Given the description of an element on the screen output the (x, y) to click on. 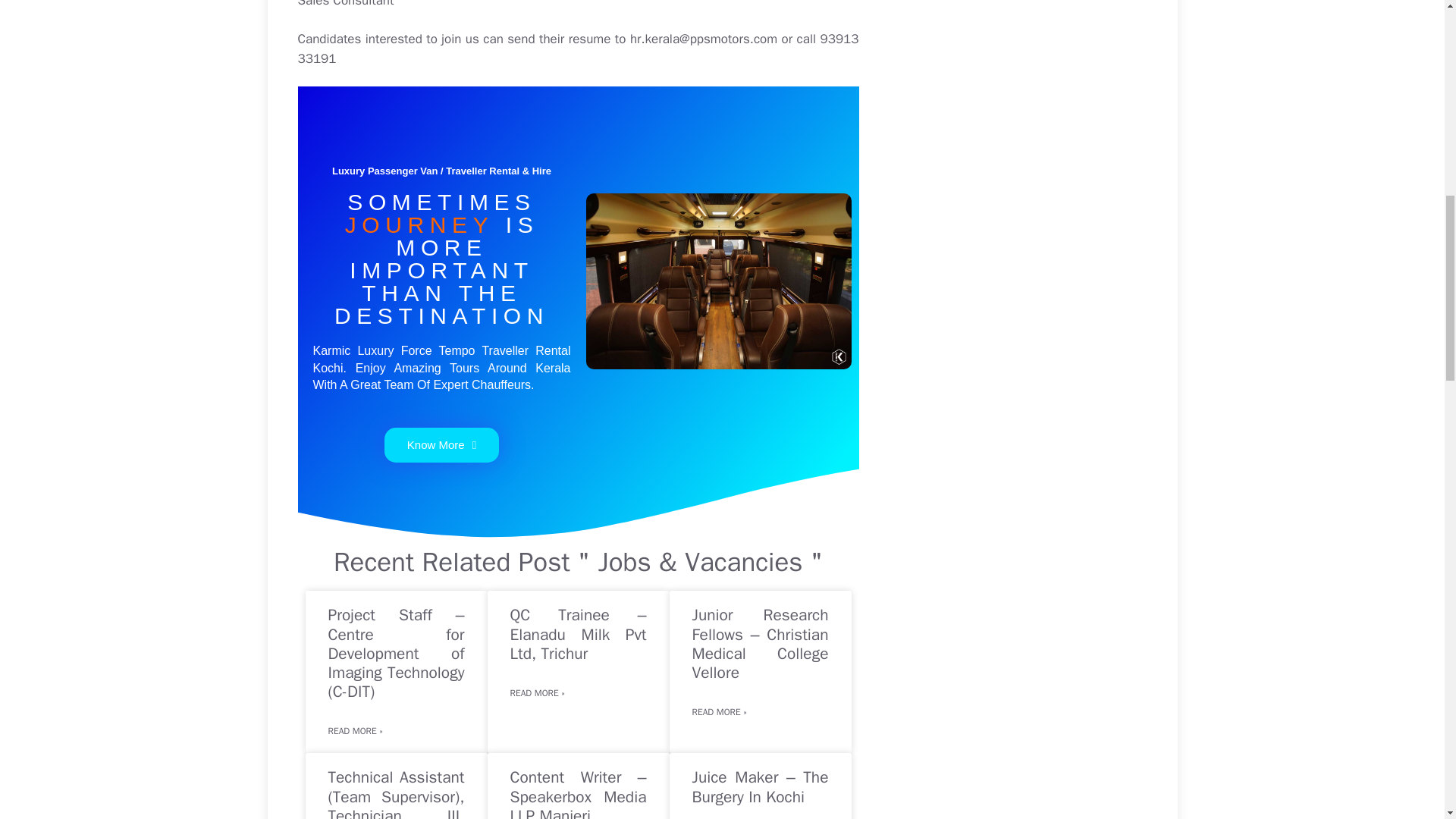
Know More (441, 444)
Scroll back to top (1406, 720)
